Given the description of an element on the screen output the (x, y) to click on. 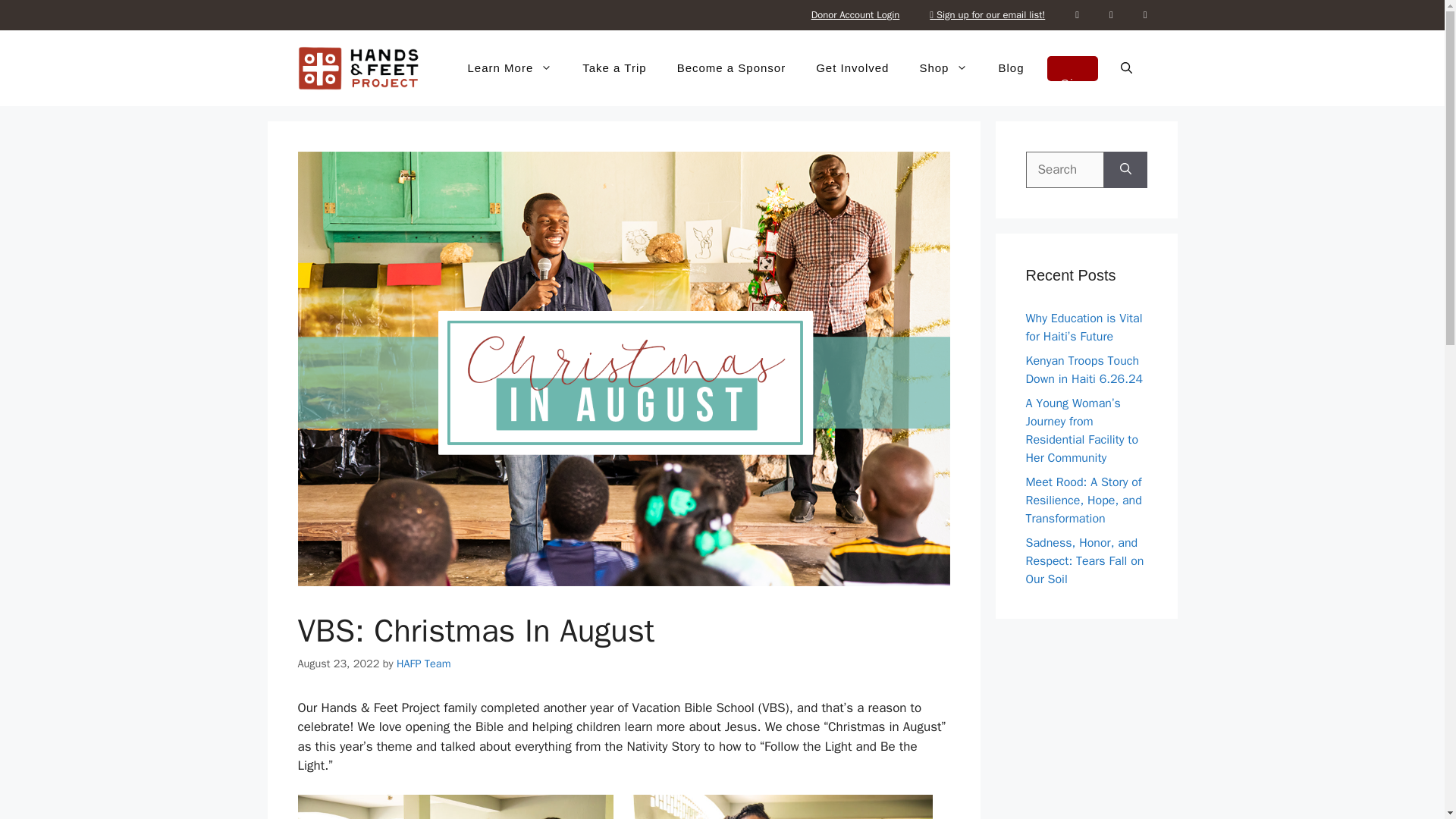
YouTube (1144, 15)
Instagram (1111, 15)
Give (1071, 68)
Shop (943, 67)
Learn More (509, 67)
Sign up for our email list! (986, 15)
Donor Account Login (855, 15)
View all posts by HAFP Team (423, 663)
Become a Sponsor (732, 67)
Meet Rood: A Story of Resilience, Hope, and Transformation (1083, 500)
Search for: (1064, 169)
Blog (1010, 67)
Facebook (1076, 15)
Kenyan Troops Touch Down in Haiti 6.26.24 (1083, 369)
HAFP Team (423, 663)
